Given the description of an element on the screen output the (x, y) to click on. 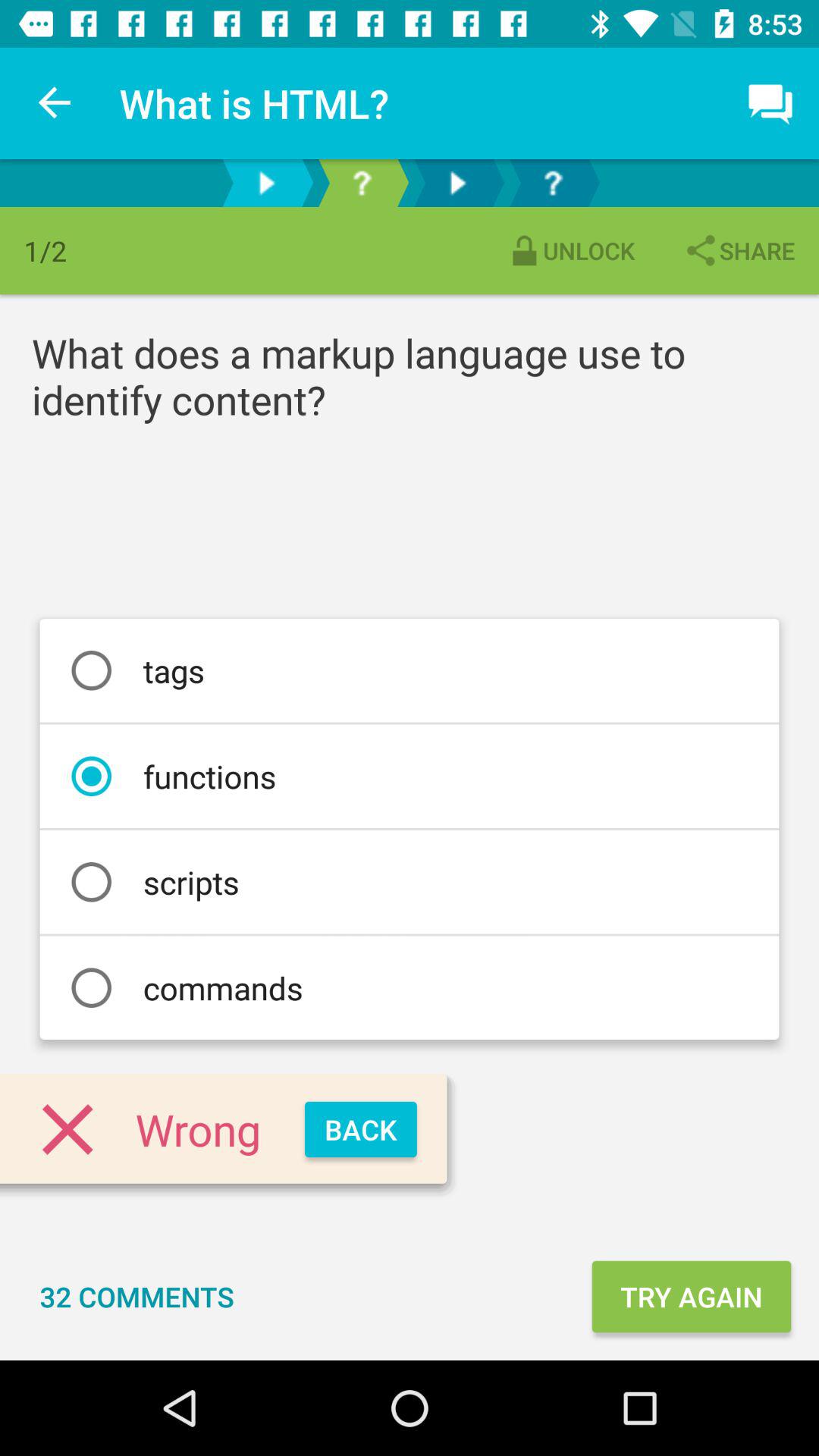
turn on 32 comments item (136, 1296)
